Given the description of an element on the screen output the (x, y) to click on. 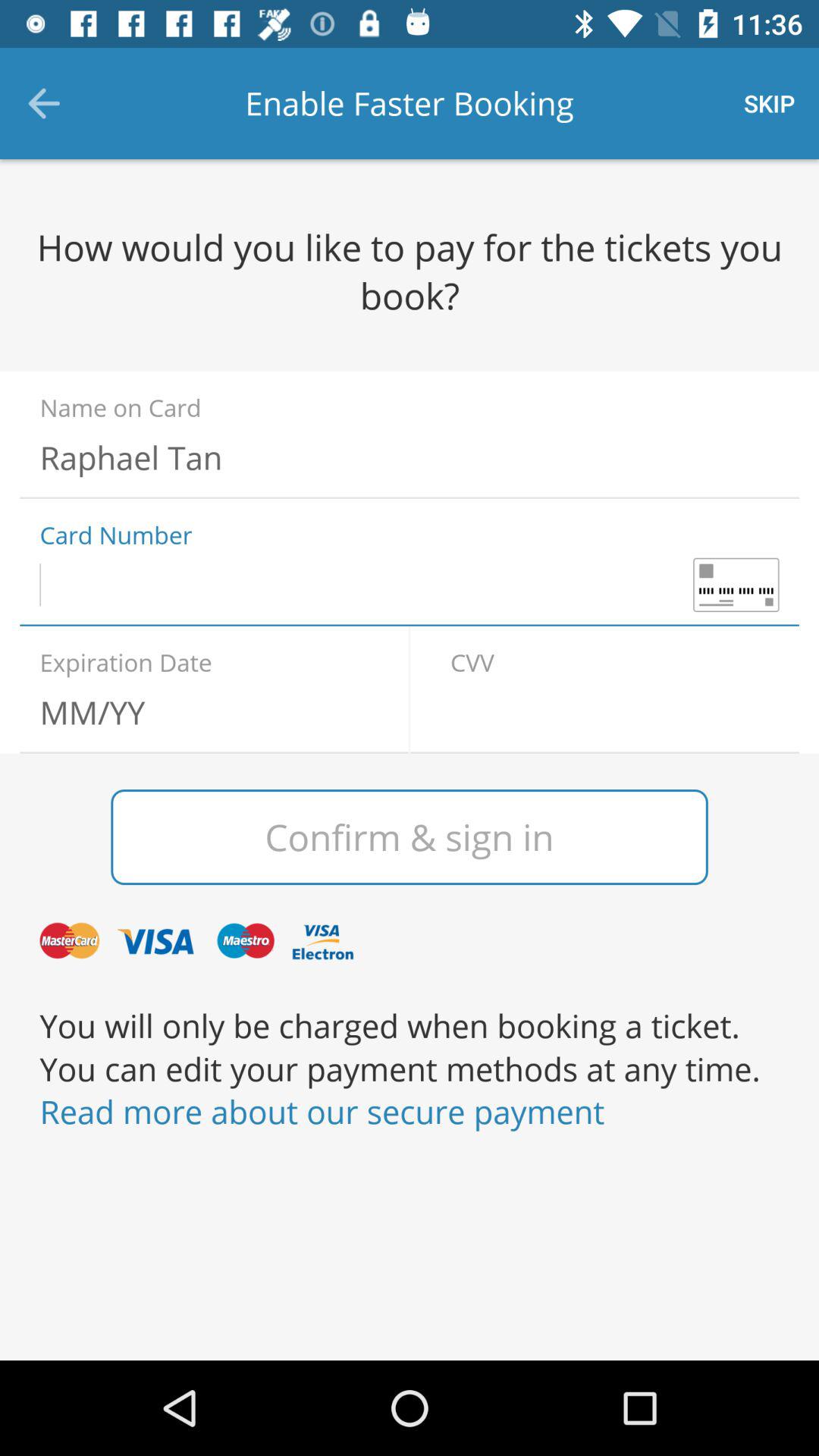
enter in expiration date (204, 712)
